Given the description of an element on the screen output the (x, y) to click on. 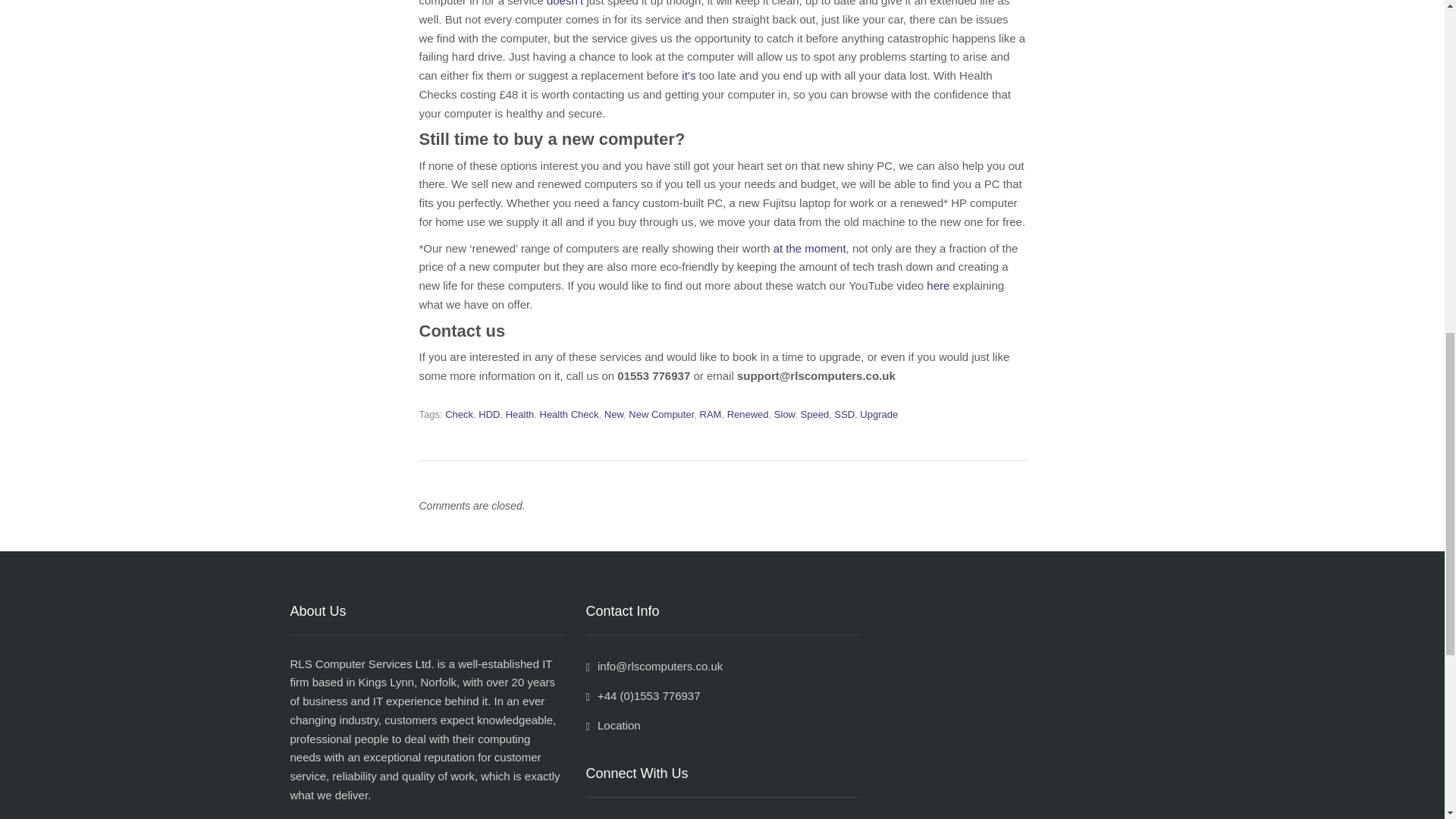
Check (459, 414)
Health (519, 414)
here (937, 285)
at the moment (809, 247)
HDD (489, 414)
